Given the description of an element on the screen output the (x, y) to click on. 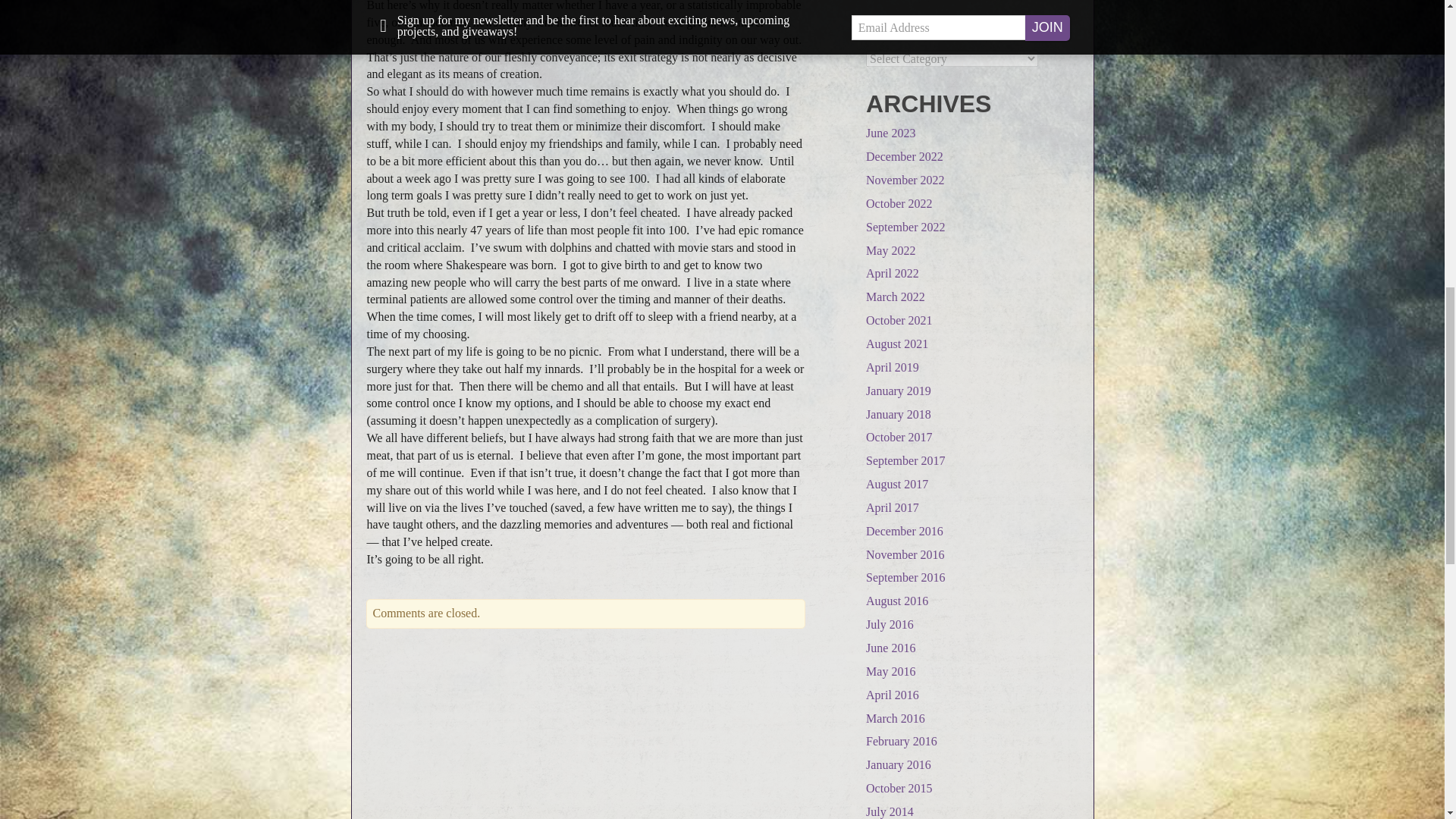
January 2019 (898, 390)
March 2022 (895, 296)
August 2021 (897, 343)
October 2017 (899, 436)
September 2017 (905, 460)
April 2019 (892, 367)
June 2023 (890, 132)
September 2022 (905, 226)
January 2018 (898, 413)
October 2021 (899, 319)
April 2022 (892, 273)
November 2022 (905, 179)
May 2022 (890, 250)
December 2022 (904, 155)
October 2022 (899, 203)
